Given the description of an element on the screen output the (x, y) to click on. 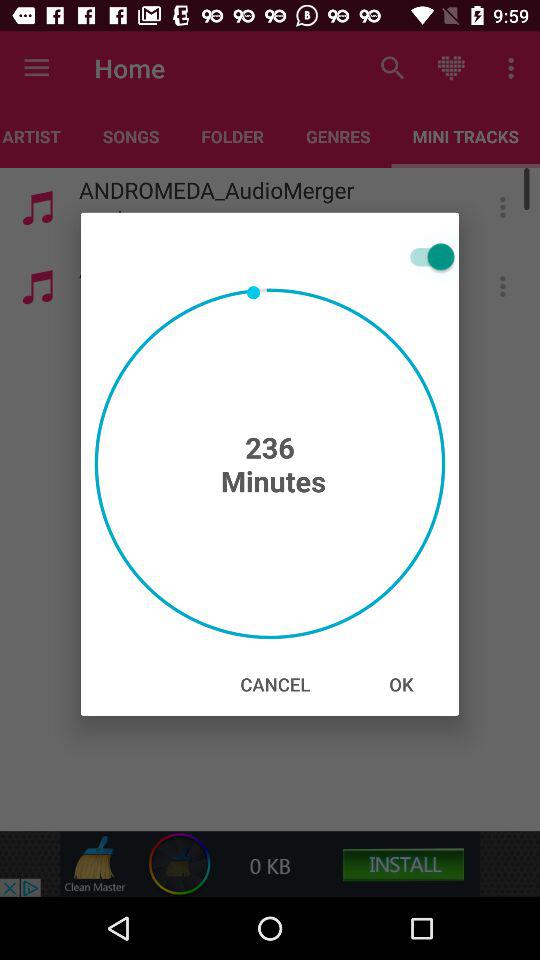
turn on the icon at the bottom right corner (401, 683)
